Given the description of an element on the screen output the (x, y) to click on. 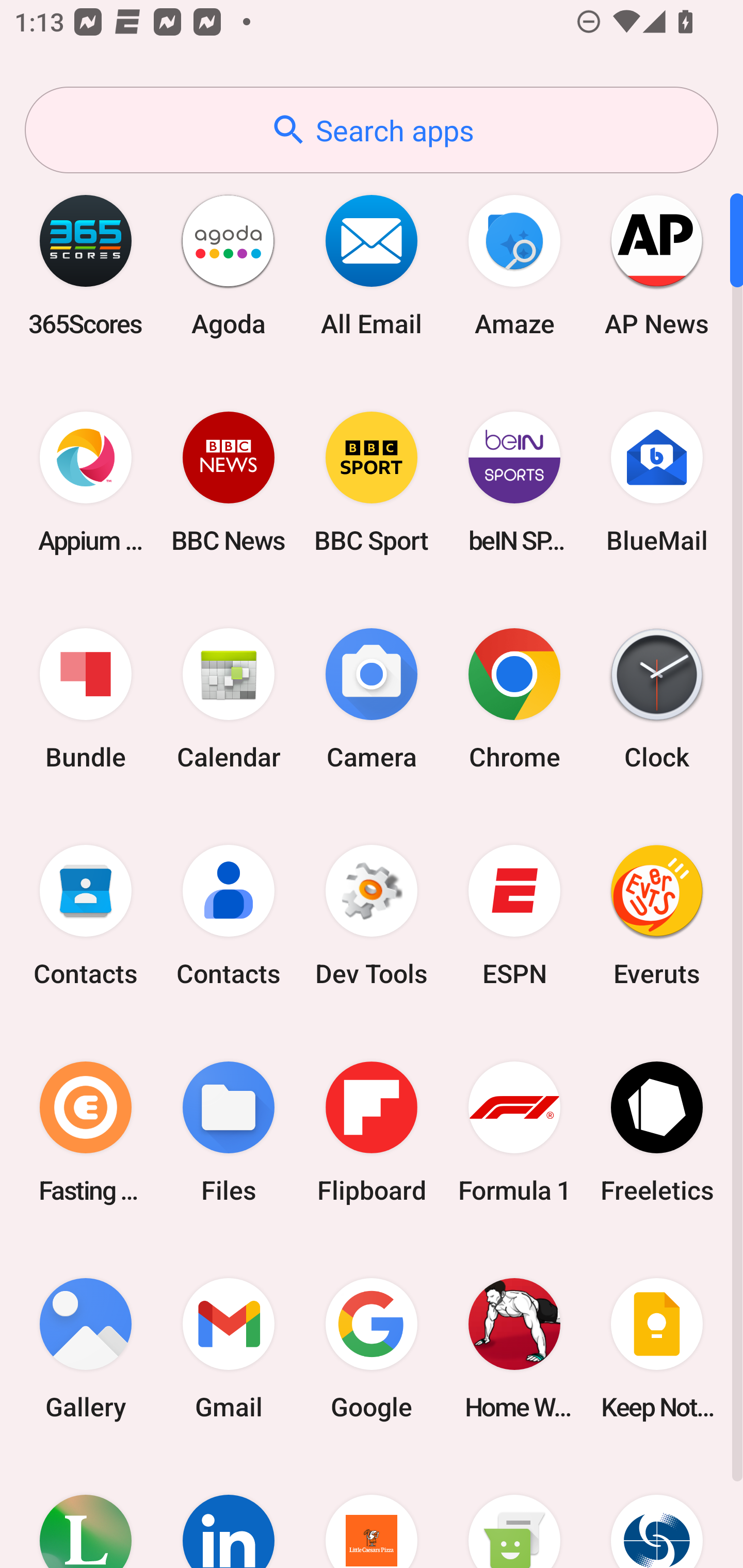
  Search apps (371, 130)
365Scores (85, 264)
Agoda (228, 264)
All Email (371, 264)
Amaze (514, 264)
AP News (656, 264)
Appium Settings (85, 482)
BBC News (228, 482)
BBC Sport (371, 482)
beIN SPORTS (514, 482)
BlueMail (656, 482)
Bundle (85, 699)
Calendar (228, 699)
Camera (371, 699)
Chrome (514, 699)
Clock (656, 699)
Contacts (85, 915)
Contacts (228, 915)
Dev Tools (371, 915)
ESPN (514, 915)
Everuts (656, 915)
Fasting Coach (85, 1131)
Files (228, 1131)
Flipboard (371, 1131)
Formula 1 (514, 1131)
Freeletics (656, 1131)
Gallery (85, 1348)
Gmail (228, 1348)
Google (371, 1348)
Home Workout (514, 1348)
Keep Notes (656, 1348)
